Given the description of an element on the screen output the (x, y) to click on. 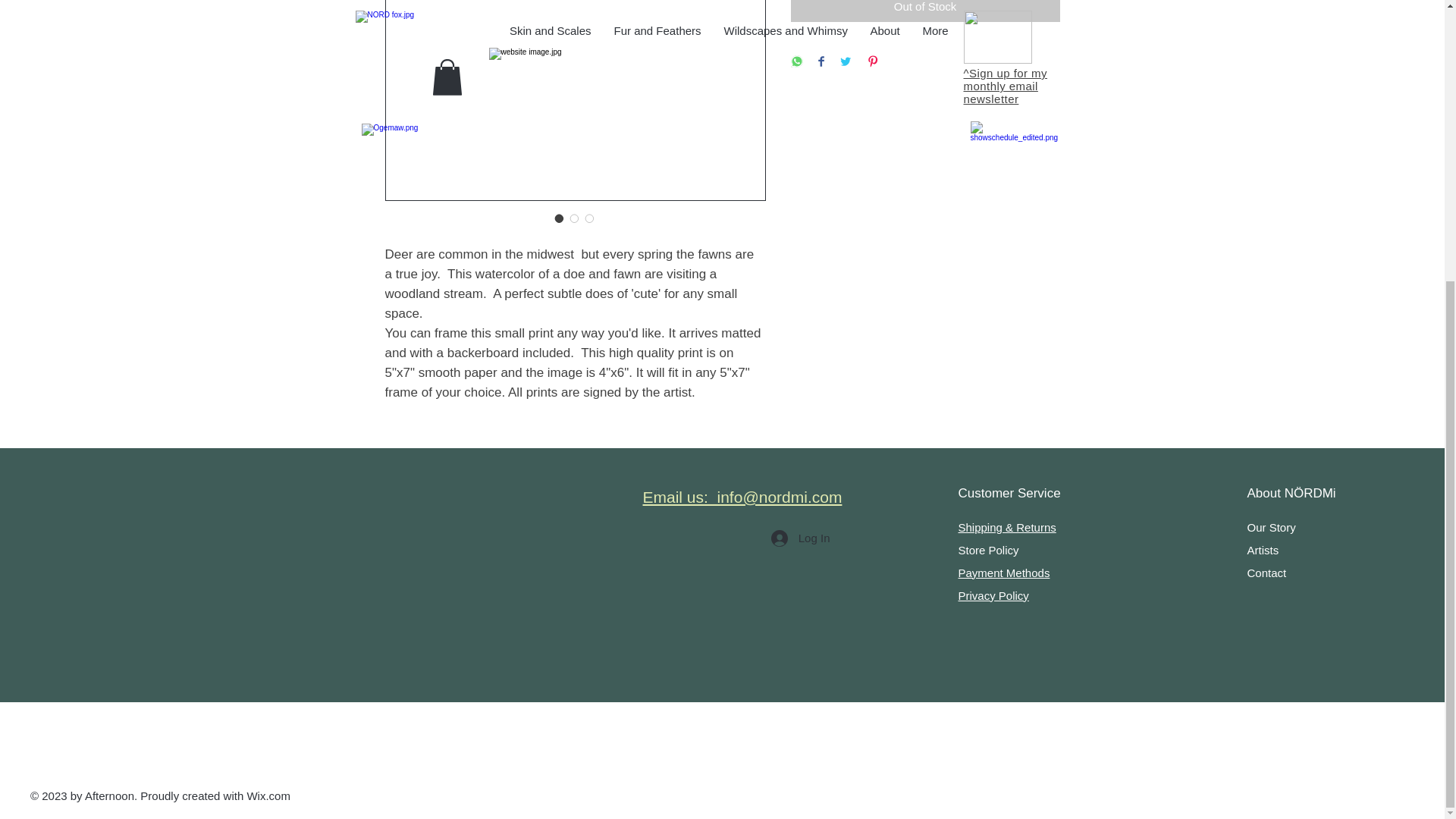
Artists (1262, 549)
Log In (800, 538)
Privacy Policy (993, 594)
Store Policy (988, 549)
Our Story (1270, 526)
Out of Stock (924, 11)
Wix.com (267, 795)
Contact (1265, 572)
Payment Methods (1003, 572)
